Given the description of an element on the screen output the (x, y) to click on. 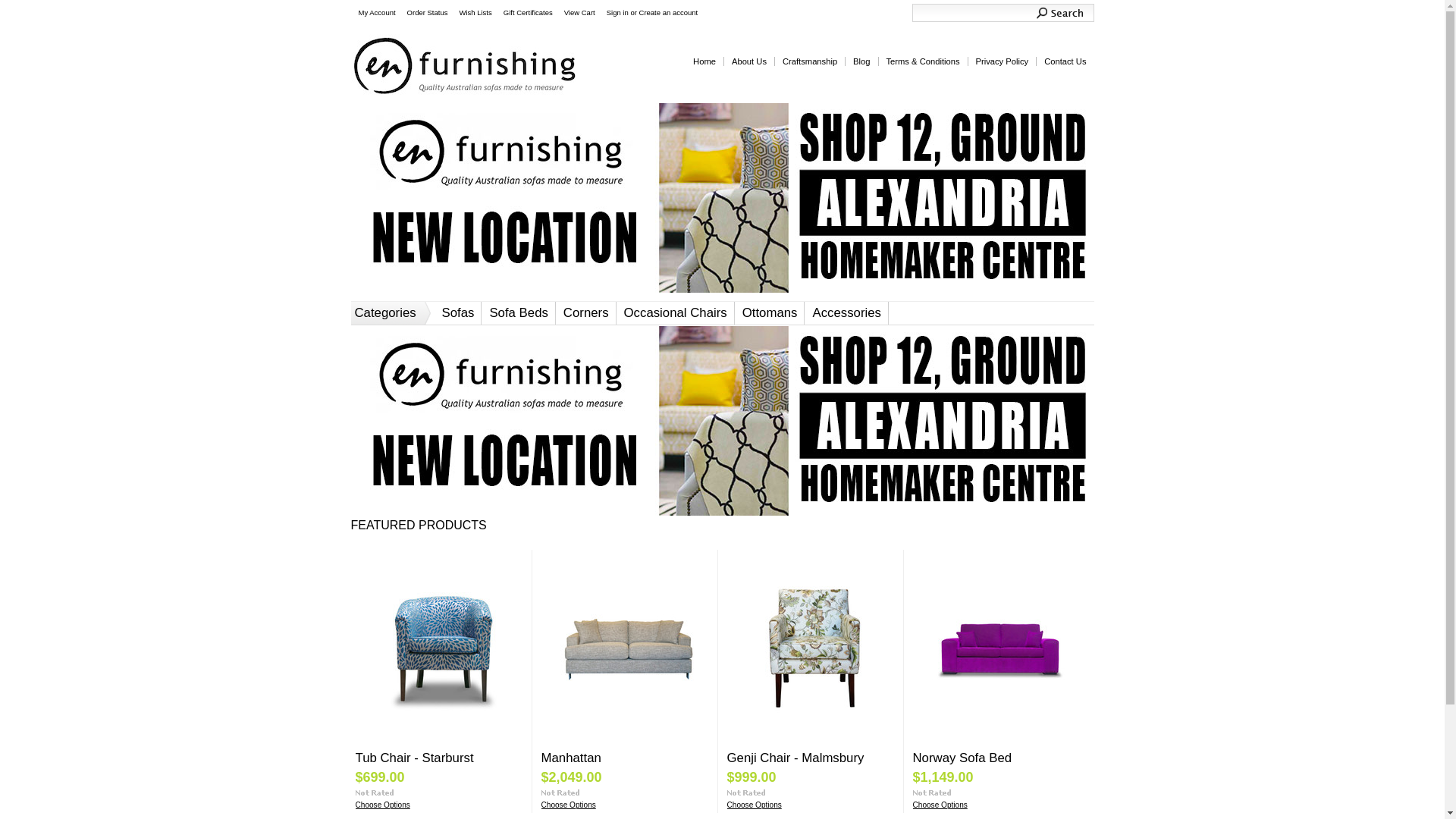
Sofas Element type: text (457, 310)
Occasional Chairs Element type: text (675, 310)
About Us Element type: text (748, 60)
Home Element type: text (704, 60)
Choose Options Element type: text (381, 804)
Genji Chair - Malmsbury Element type: text (794, 757)
Contact Us Element type: text (1064, 60)
Accessories Element type: text (846, 310)
Craftsmanship Element type: text (809, 60)
Sign in Element type: text (617, 12)
Choose Options Element type: text (568, 804)
Order Status Element type: text (425, 12)
Choose Options Element type: text (753, 804)
Sofa Beds Element type: text (518, 310)
Corners Element type: text (585, 310)
Ottomans Element type: text (769, 310)
En Furnishing Alexandria Element type: hover (723, 197)
Tub Chair - Starburst Element type: text (413, 757)
View Cart Element type: text (577, 12)
My Account Element type: text (374, 12)
Terms & Conditions Element type: text (922, 60)
Choose Options Element type: text (940, 804)
Wish Lists Element type: text (473, 12)
Manhattan Element type: text (571, 757)
Create an account Element type: text (668, 12)
En Furnishing Alexandria Element type: hover (723, 420)
Blog Element type: text (860, 60)
Privacy Policy Element type: text (1001, 60)
Norway Sofa Bed Element type: text (962, 757)
Gift Certificates Element type: text (525, 12)
